Given the description of an element on the screen output the (x, y) to click on. 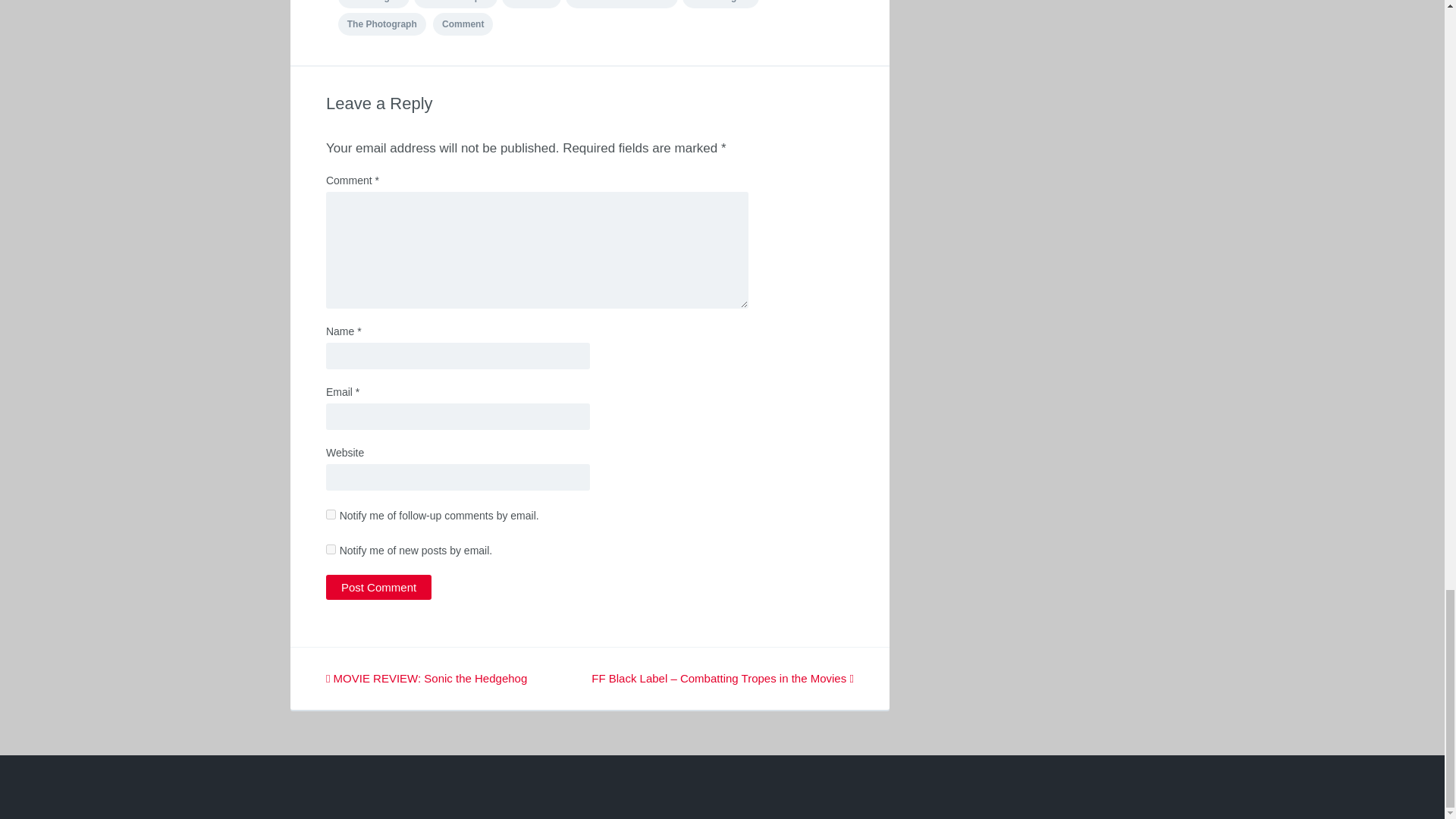
subscribe (331, 514)
subscribe (331, 549)
Post Comment (378, 586)
